Given the description of an element on the screen output the (x, y) to click on. 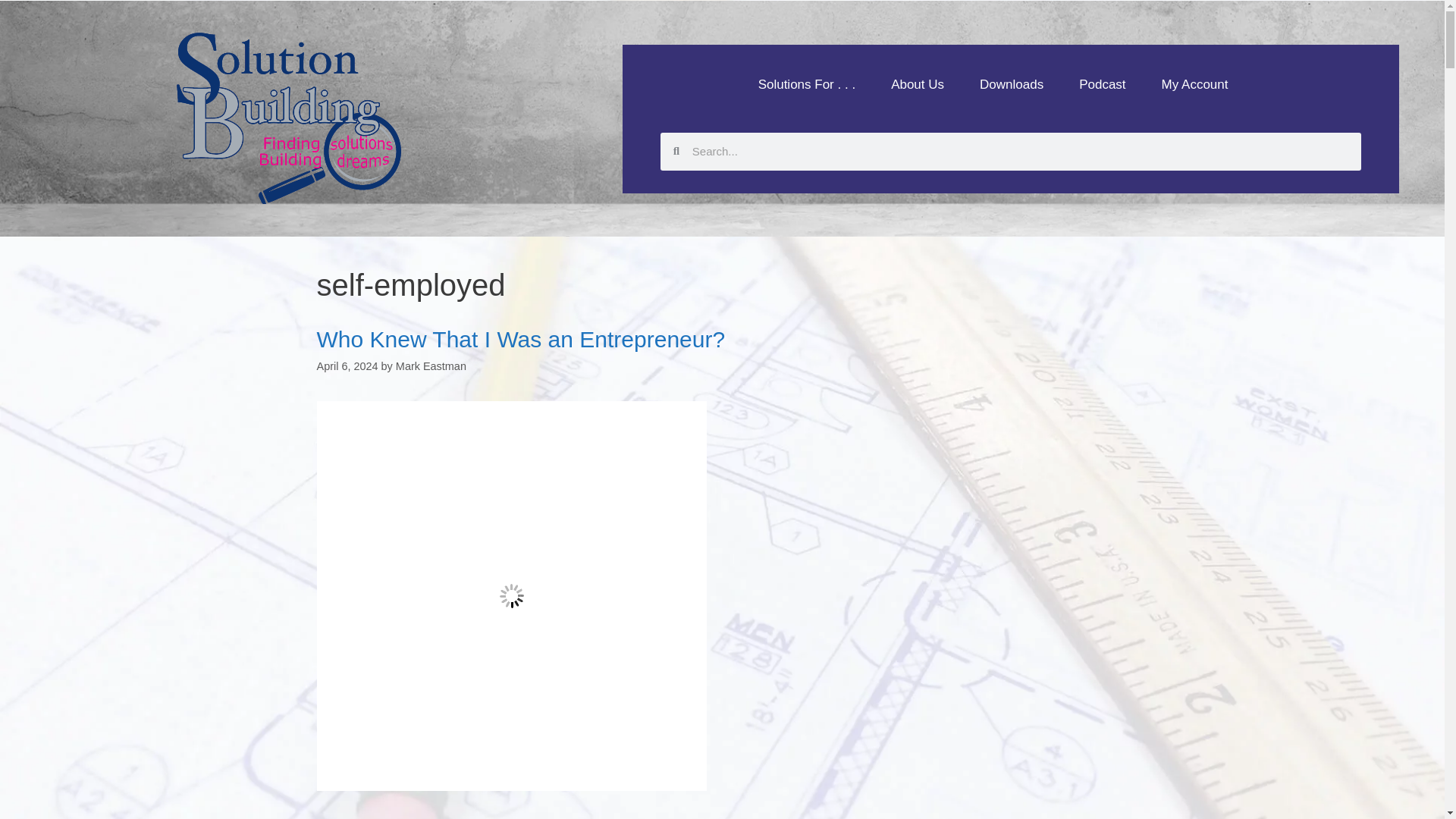
Podcast (1102, 83)
Who Knew That I Was an Entrepreneur? (521, 339)
Solutions For . . . (806, 83)
View all posts by Mark Eastman (430, 366)
My Account (1195, 83)
Mark Eastman (430, 366)
About Us (917, 83)
Downloads (1010, 83)
